Given the description of an element on the screen output the (x, y) to click on. 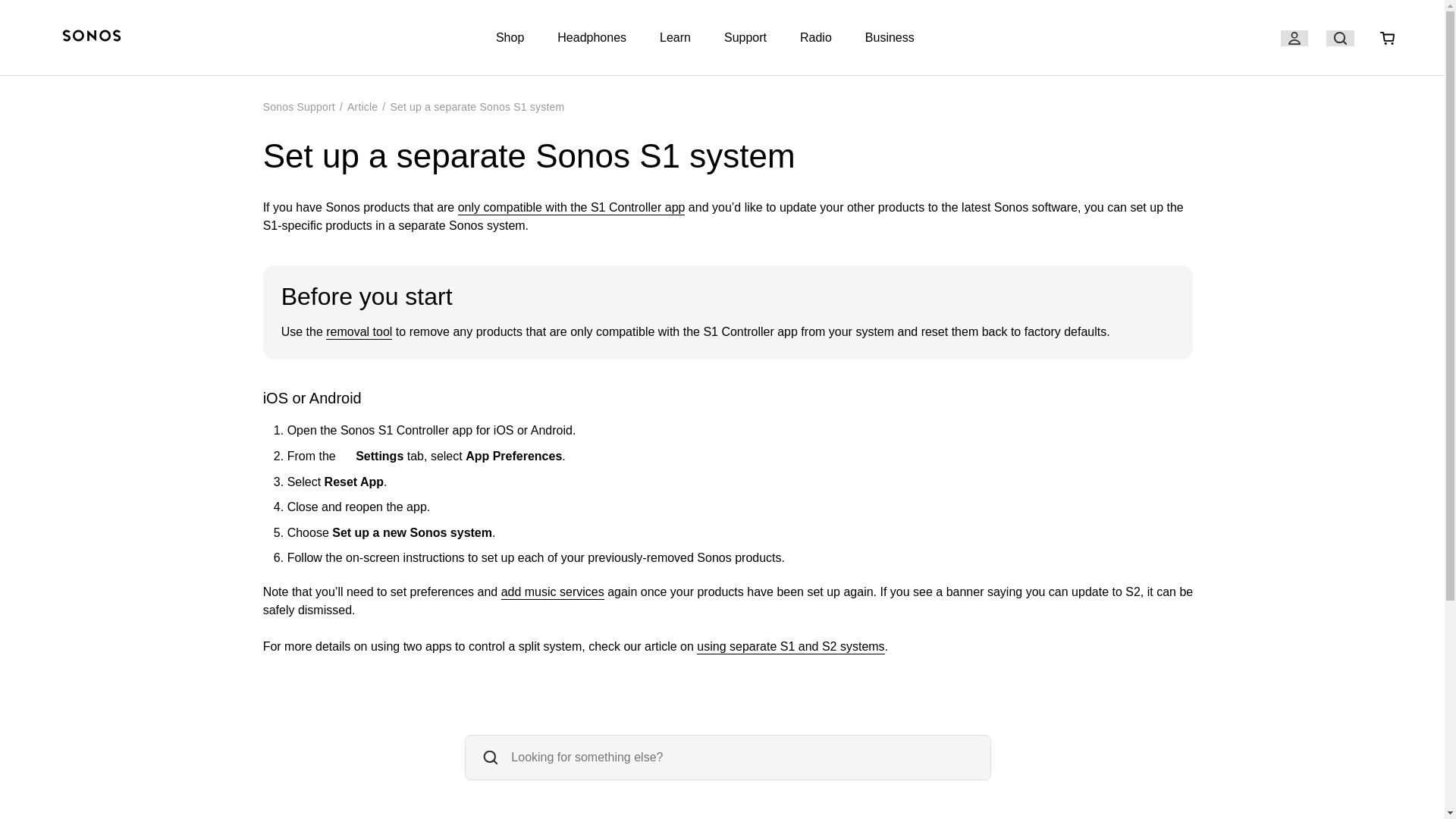
Learn (675, 37)
Sonos Support (298, 106)
Business (889, 37)
Headphones (591, 37)
removal tool (358, 332)
add music services (552, 592)
Search (1339, 38)
Support (745, 37)
Set up a separate Sonos S1 system (477, 106)
Cart (1387, 37)
